Given the description of an element on the screen output the (x, y) to click on. 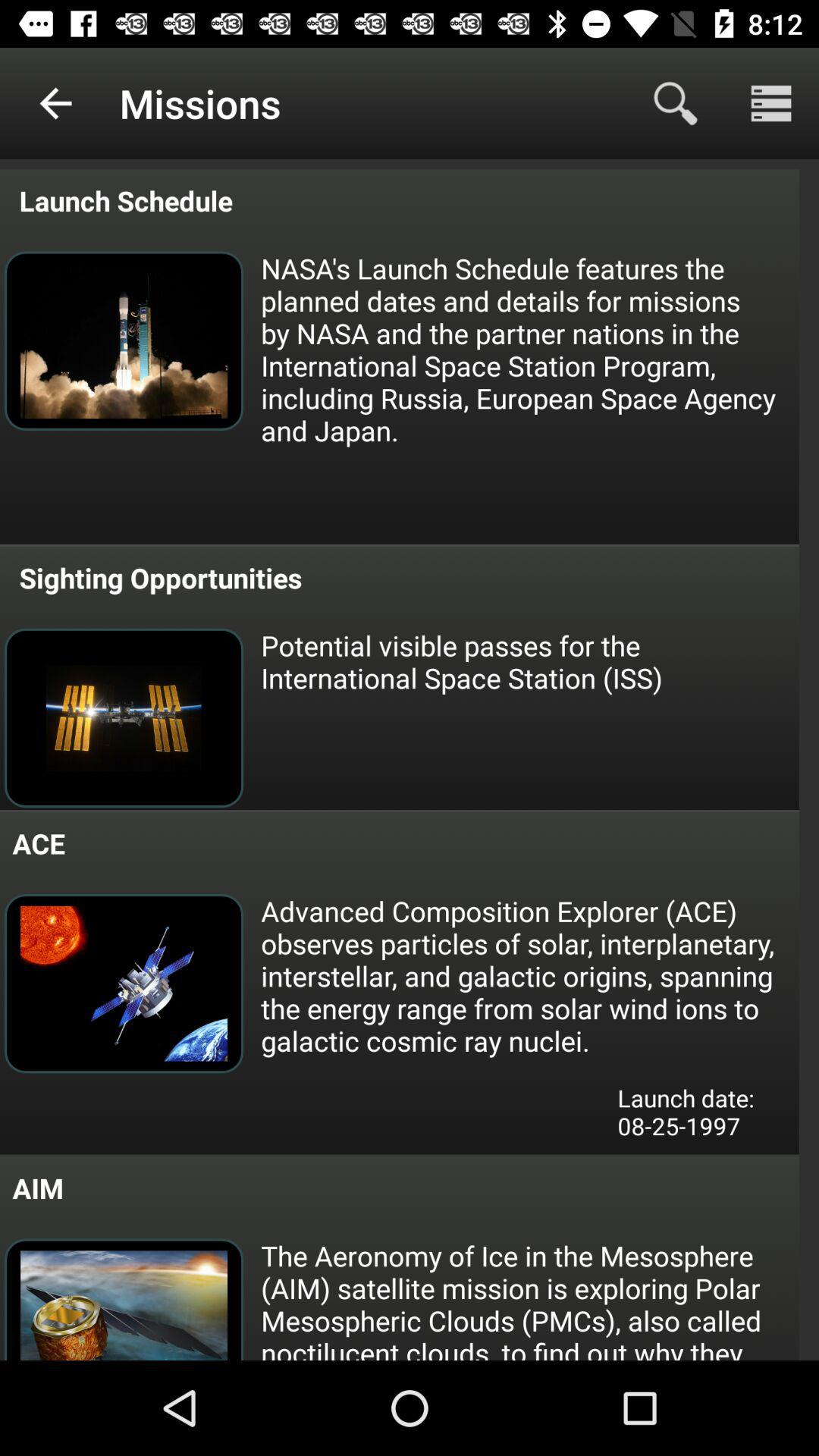
turn off icon above the potential visible passes item (157, 577)
